Given the description of an element on the screen output the (x, y) to click on. 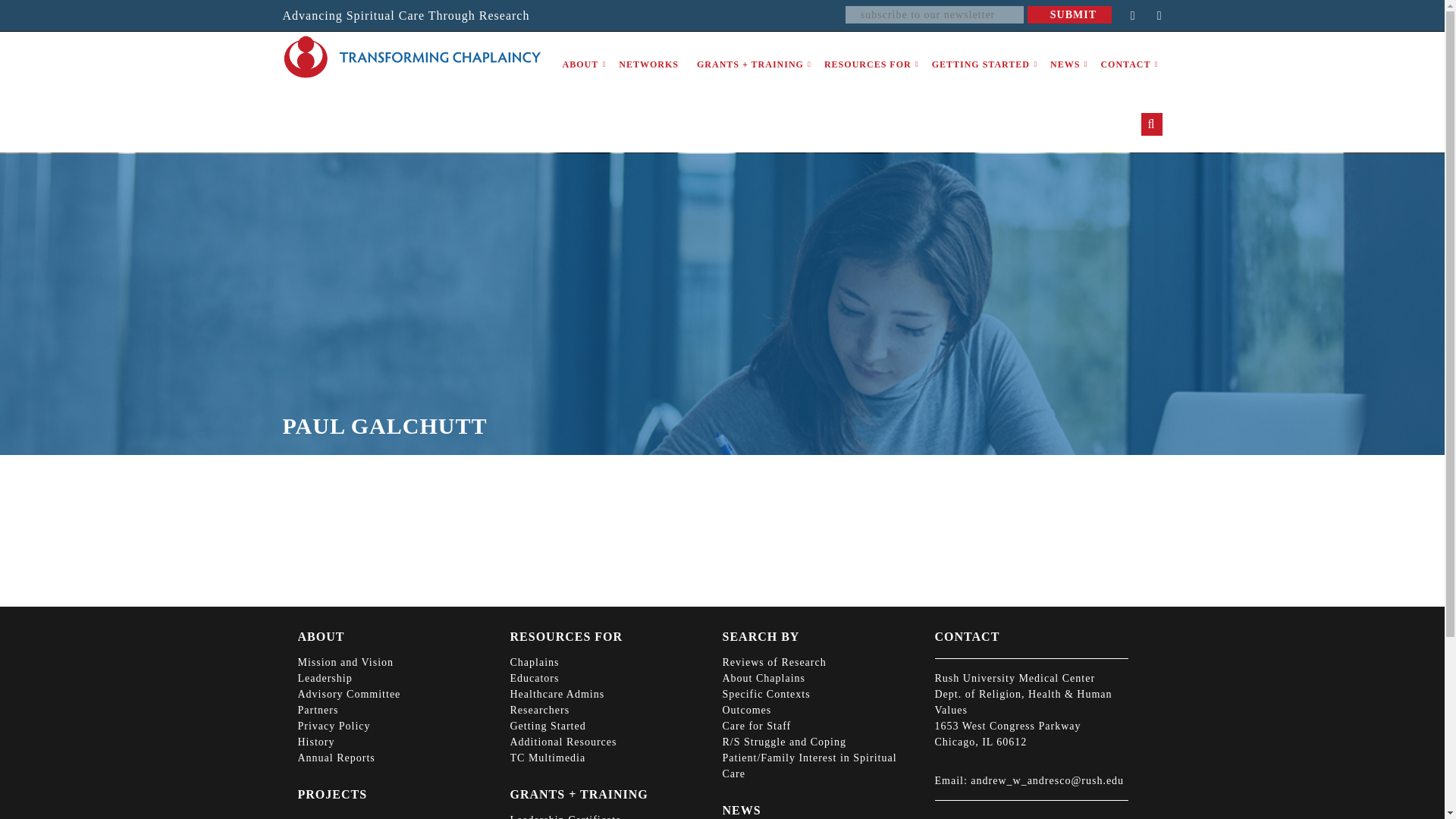
Transforming Chaplaincy (411, 56)
NETWORKS (648, 65)
GETTING STARTED (981, 65)
Submit (1069, 14)
Submit (1069, 14)
RESOURCES FOR (868, 65)
